Given the description of an element on the screen output the (x, y) to click on. 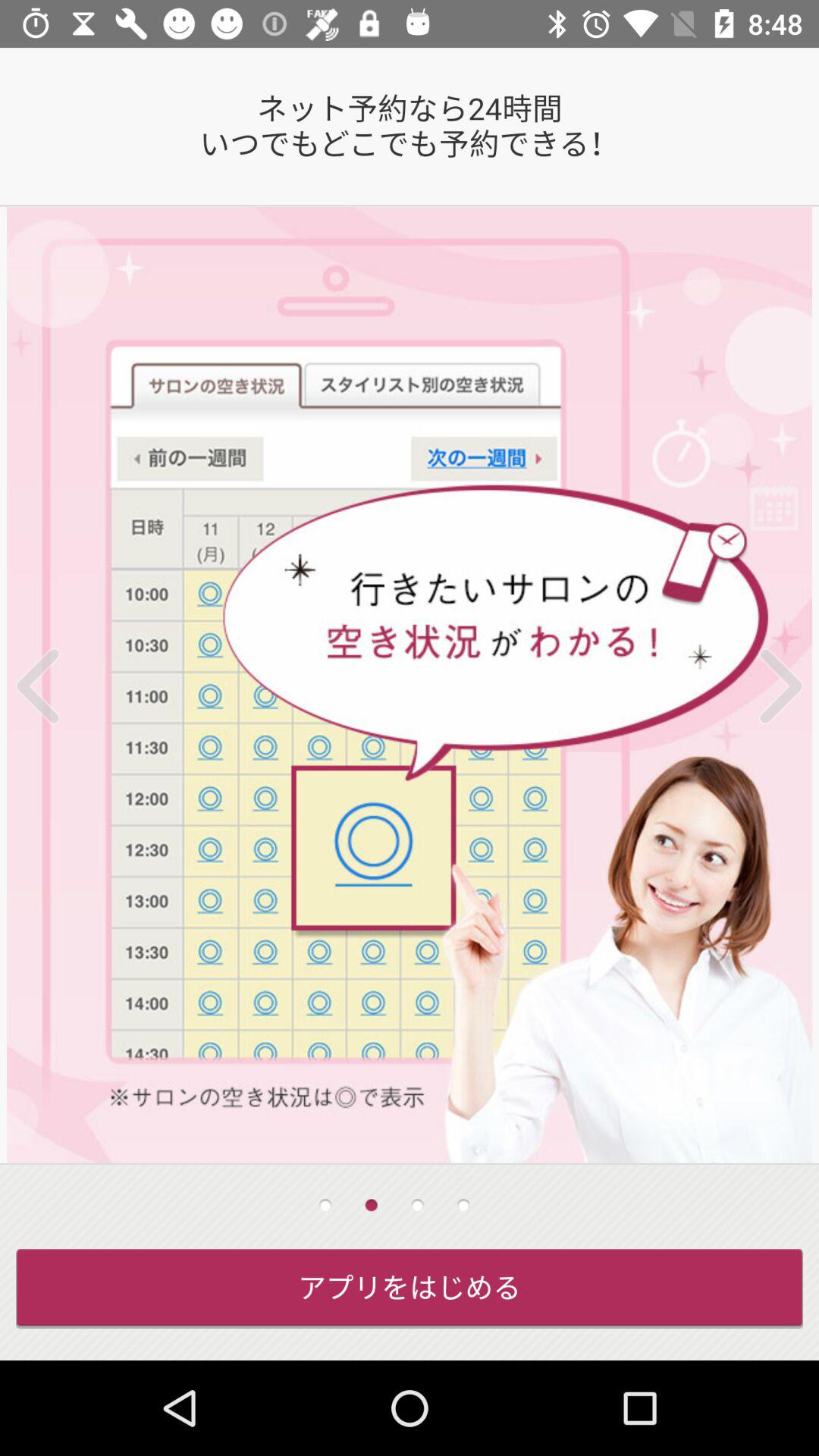
turn on the icon on the left (57, 685)
